Given the description of an element on the screen output the (x, y) to click on. 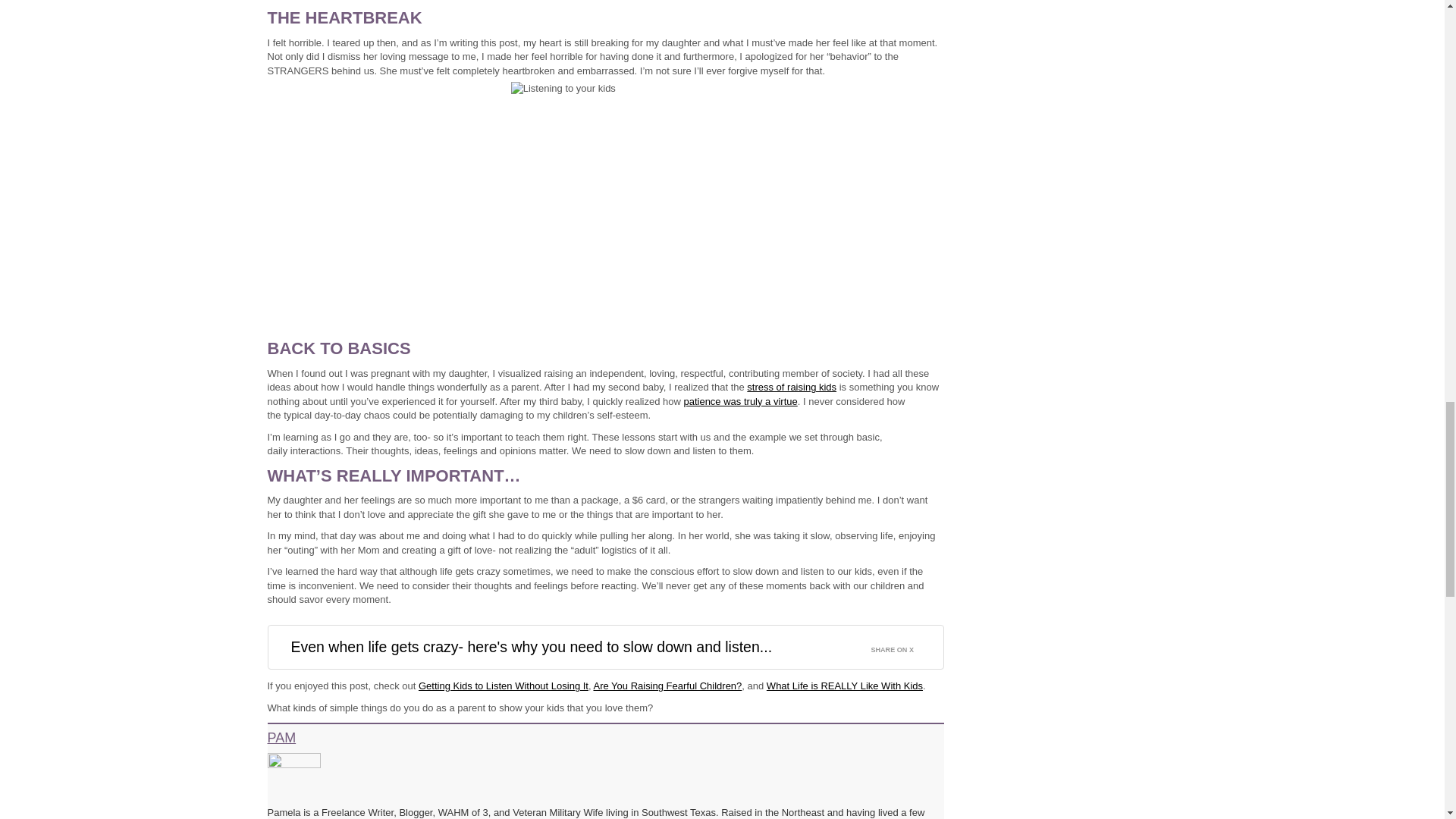
Are You Raising Fearful Children? (666, 685)
stress of raising kids (790, 387)
PAM (280, 737)
SHARE ON X (900, 646)
All posts by Pam (280, 737)
What Life is REALLY Like With Kids (845, 685)
patience was truly a virtue (739, 401)
Getting Kids to Listen Without Losing It (503, 685)
